Given the description of an element on the screen output the (x, y) to click on. 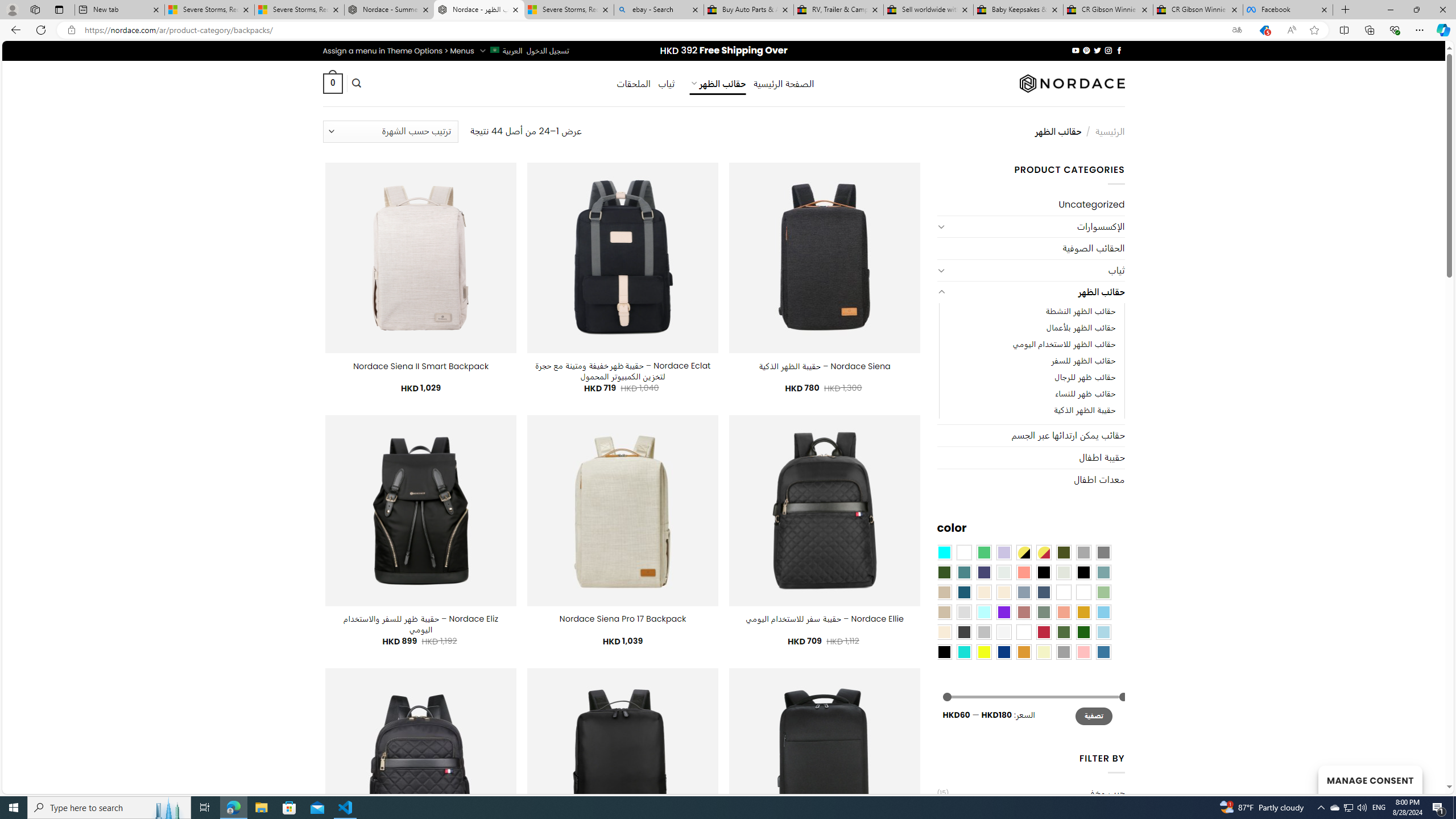
Hale Navy (1043, 591)
Dusty Blue (1023, 591)
Show translate options (1236, 29)
Blue Sage (1103, 572)
Black-Brown (1082, 572)
